Given the description of an element on the screen output the (x, y) to click on. 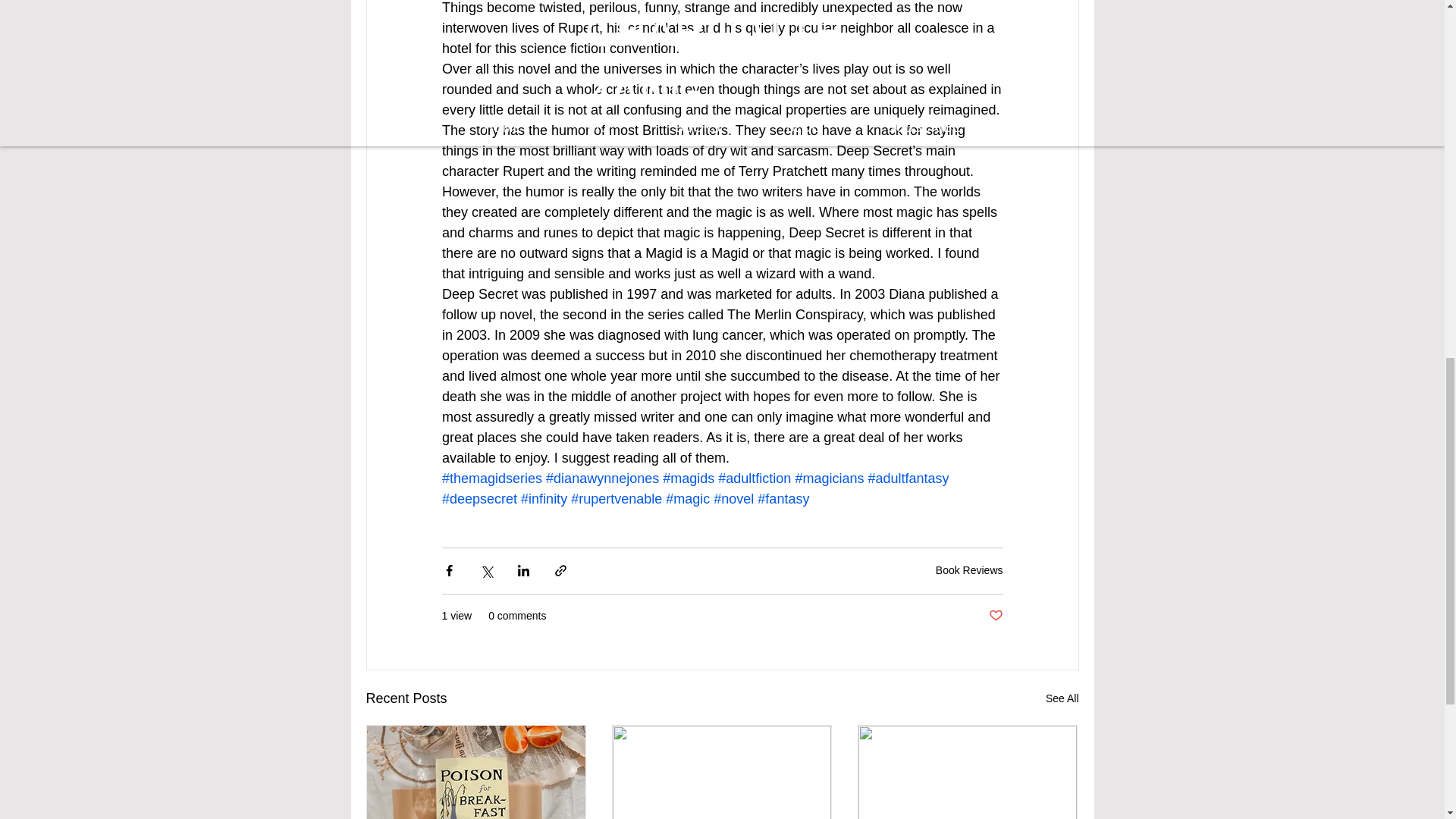
Post not marked as liked (995, 616)
Book Reviews (969, 570)
See All (1061, 698)
